Given the description of an element on the screen output the (x, y) to click on. 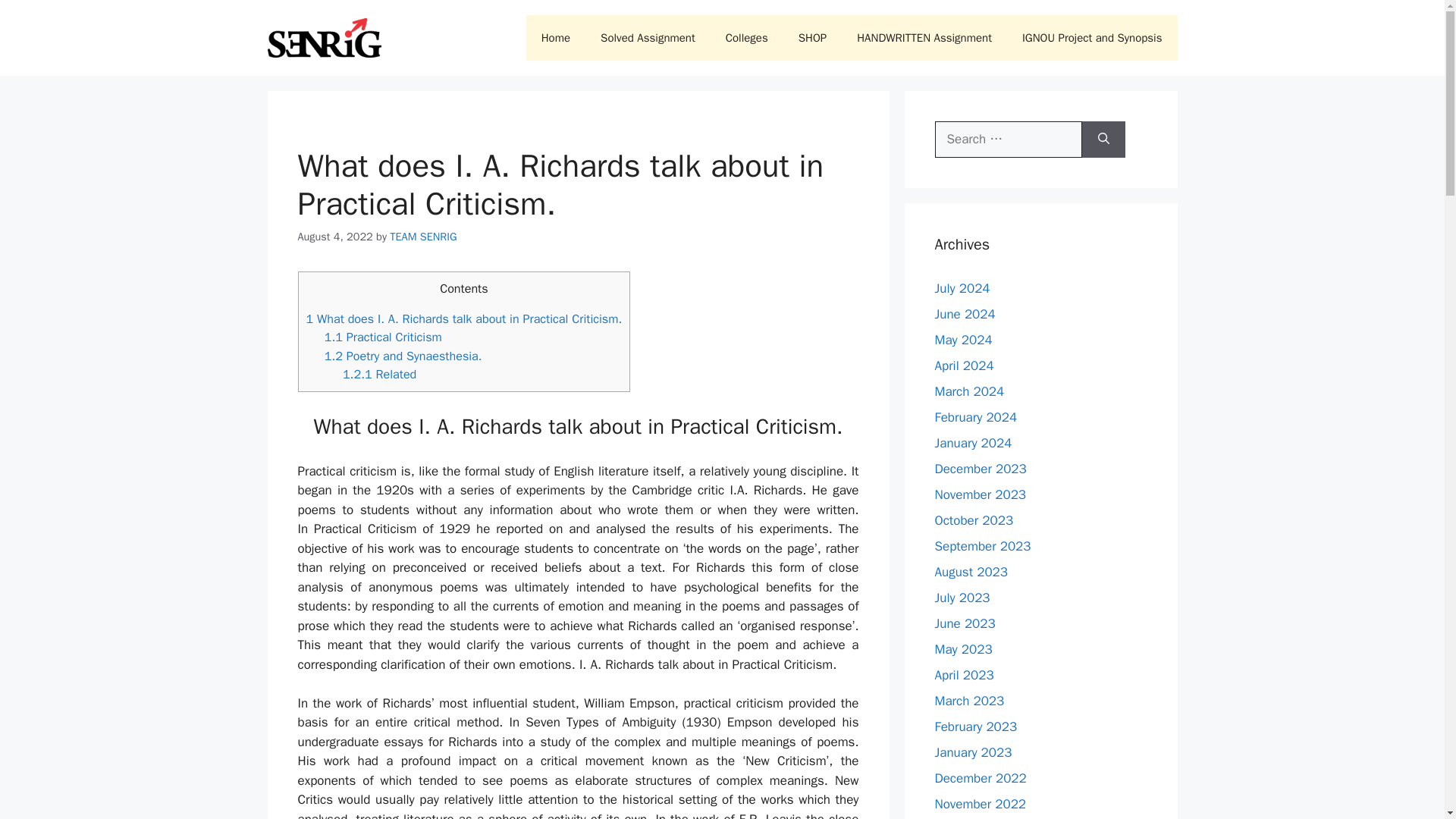
January 2024 (972, 442)
May 2023 (962, 649)
July 2024 (962, 288)
September 2023 (982, 546)
1.2.1 Related (379, 374)
May 2024 (962, 340)
August 2023 (970, 571)
SHOP (812, 37)
June 2024 (964, 314)
TEAM SENRIG (423, 236)
